Given the description of an element on the screen output the (x, y) to click on. 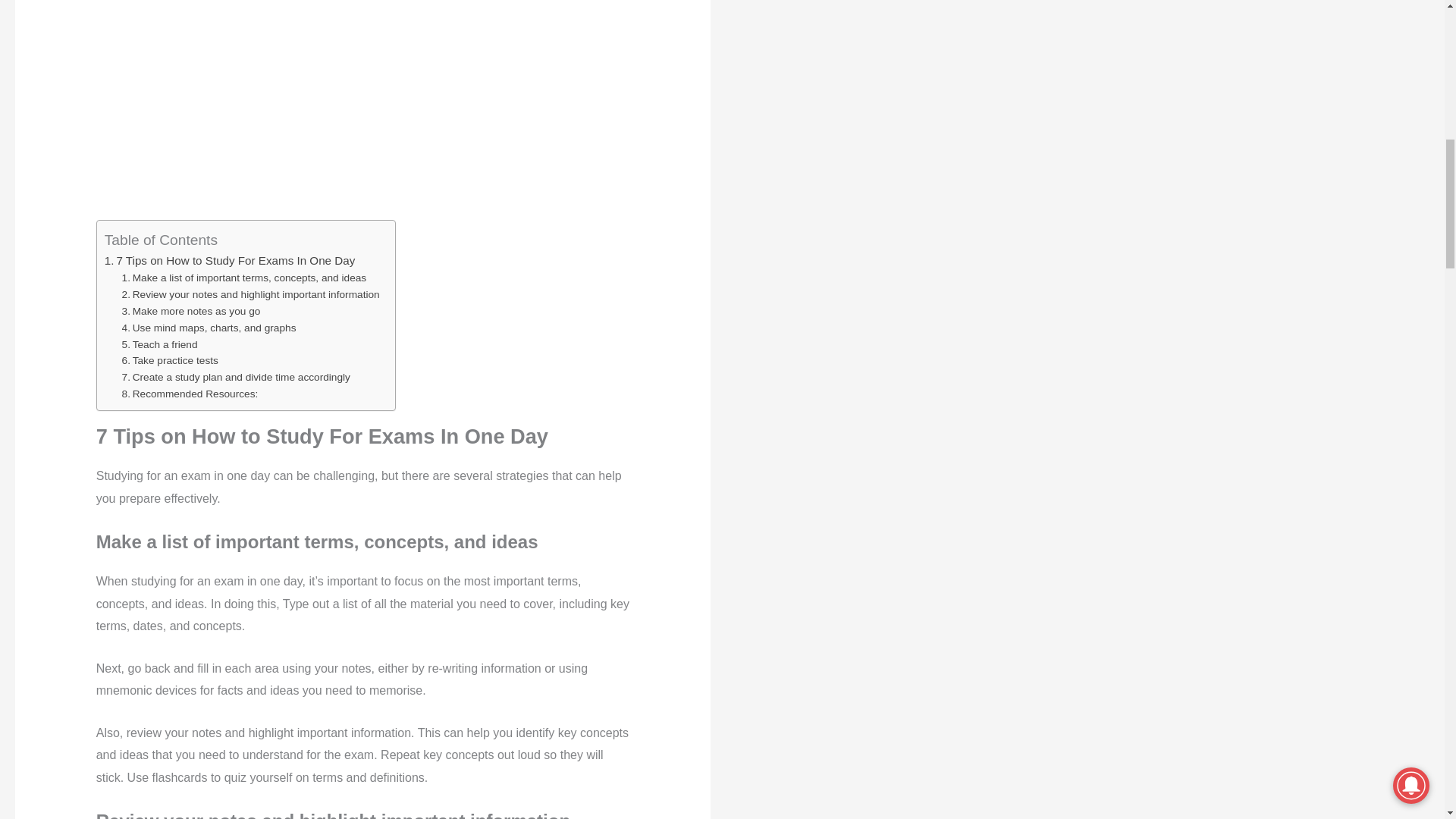
7 Tips on How to Study For Exams In One Day (229, 260)
Take practice tests (170, 360)
Make more notes as you go (191, 311)
Create a study plan and divide time accordingly (236, 377)
Make a list of important terms, concepts, and ideas (244, 278)
Teach a friend (160, 344)
Recommended Resources: (190, 393)
Advertisement (362, 107)
Use mind maps, charts, and graphs (209, 328)
Review your notes and highlight important information (251, 294)
